Given the description of an element on the screen output the (x, y) to click on. 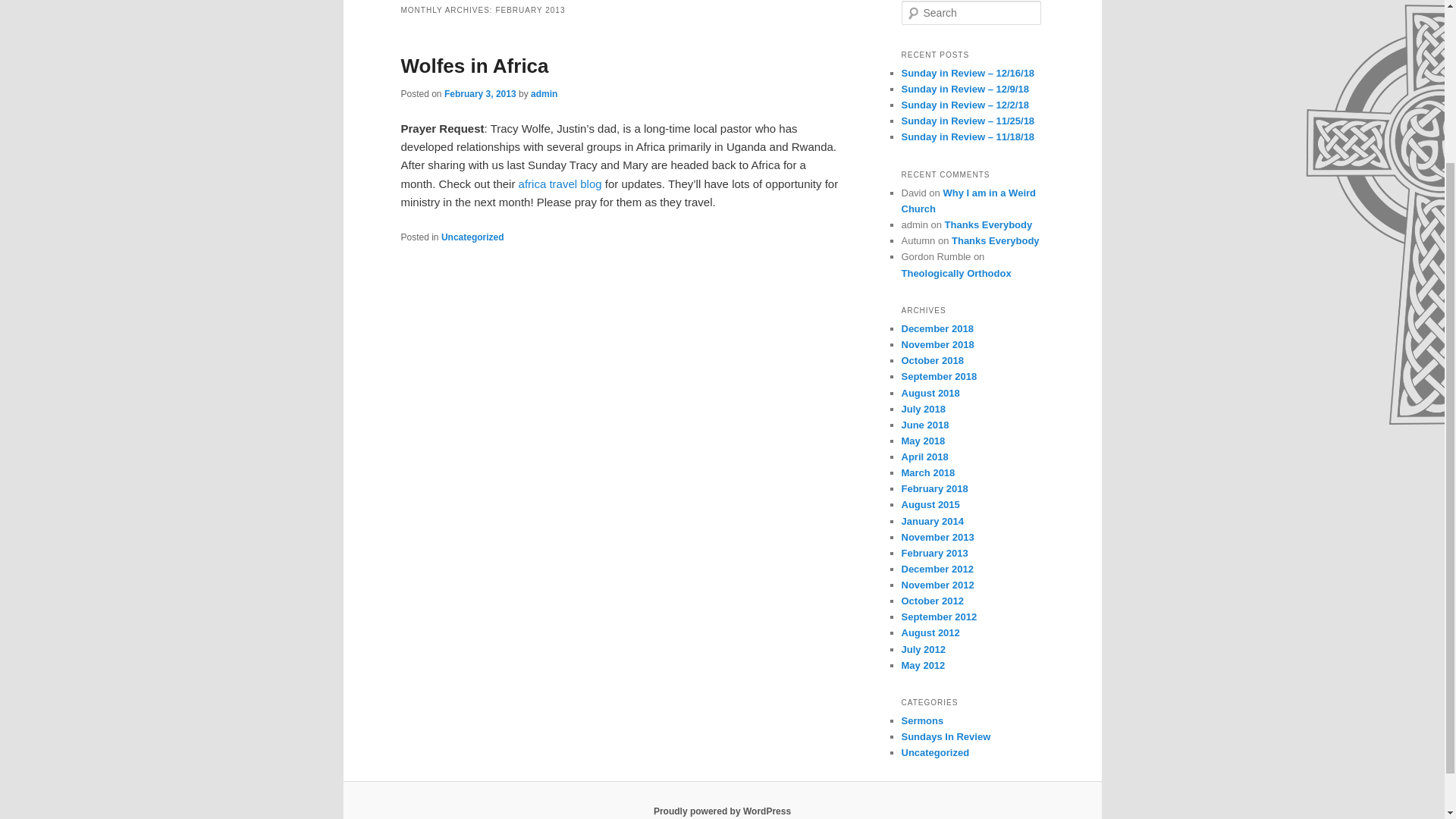
December 2012 (936, 568)
January 2014 (931, 521)
February 3, 2013 (480, 93)
admin (544, 93)
Uncategorized (472, 236)
May 2018 (922, 440)
August 2018 (930, 392)
Wolfes in Africa (474, 65)
June 2018 (925, 424)
View all posts by admin (544, 93)
September 2018 (938, 376)
4:48 pm (480, 93)
africa travel blog (560, 183)
Why I am in a Weird Church (968, 200)
December 2018 (936, 328)
